Given the description of an element on the screen output the (x, y) to click on. 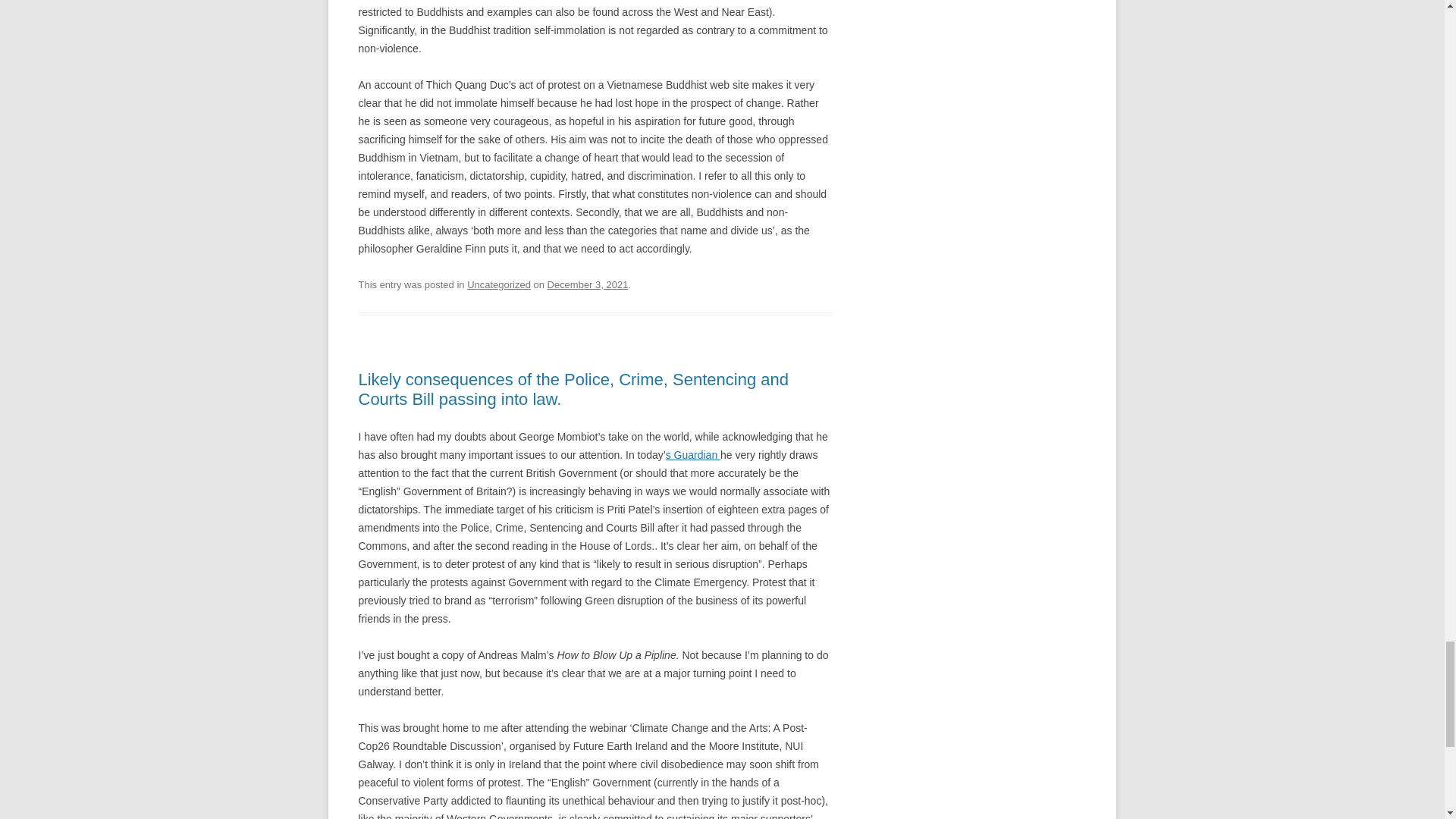
11:34 am (587, 284)
